Given the description of an element on the screen output the (x, y) to click on. 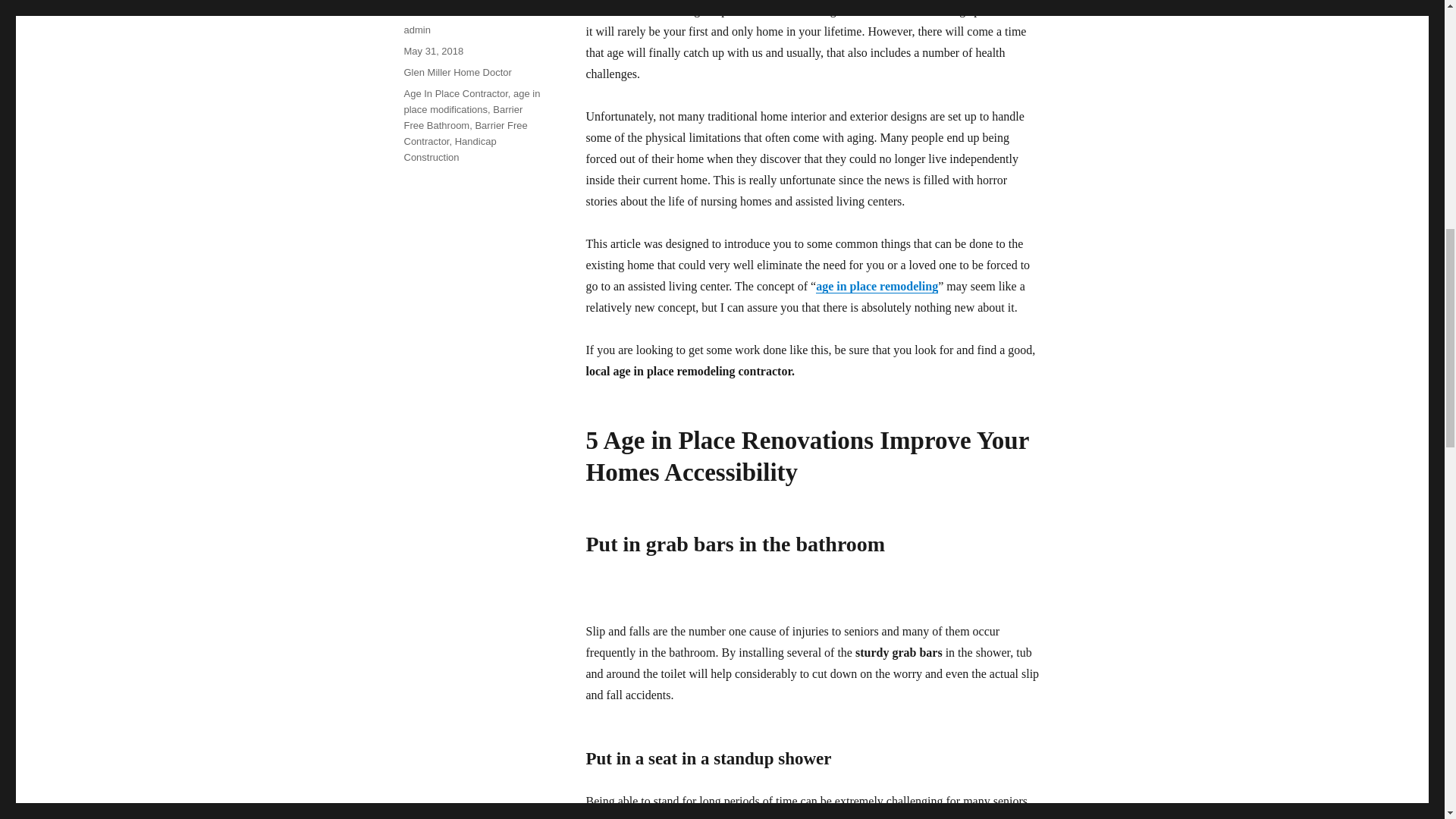
Barrier Free Bathroom (462, 117)
Age In Place Contractor (454, 93)
Handicap Construction (449, 148)
Barrier Free Contractor (465, 133)
admin (416, 30)
Glen Miller Home Doctor (457, 71)
age in place remodeling (876, 286)
May 31, 2018 (433, 50)
age in place modifications (471, 101)
